Given the description of an element on the screen output the (x, y) to click on. 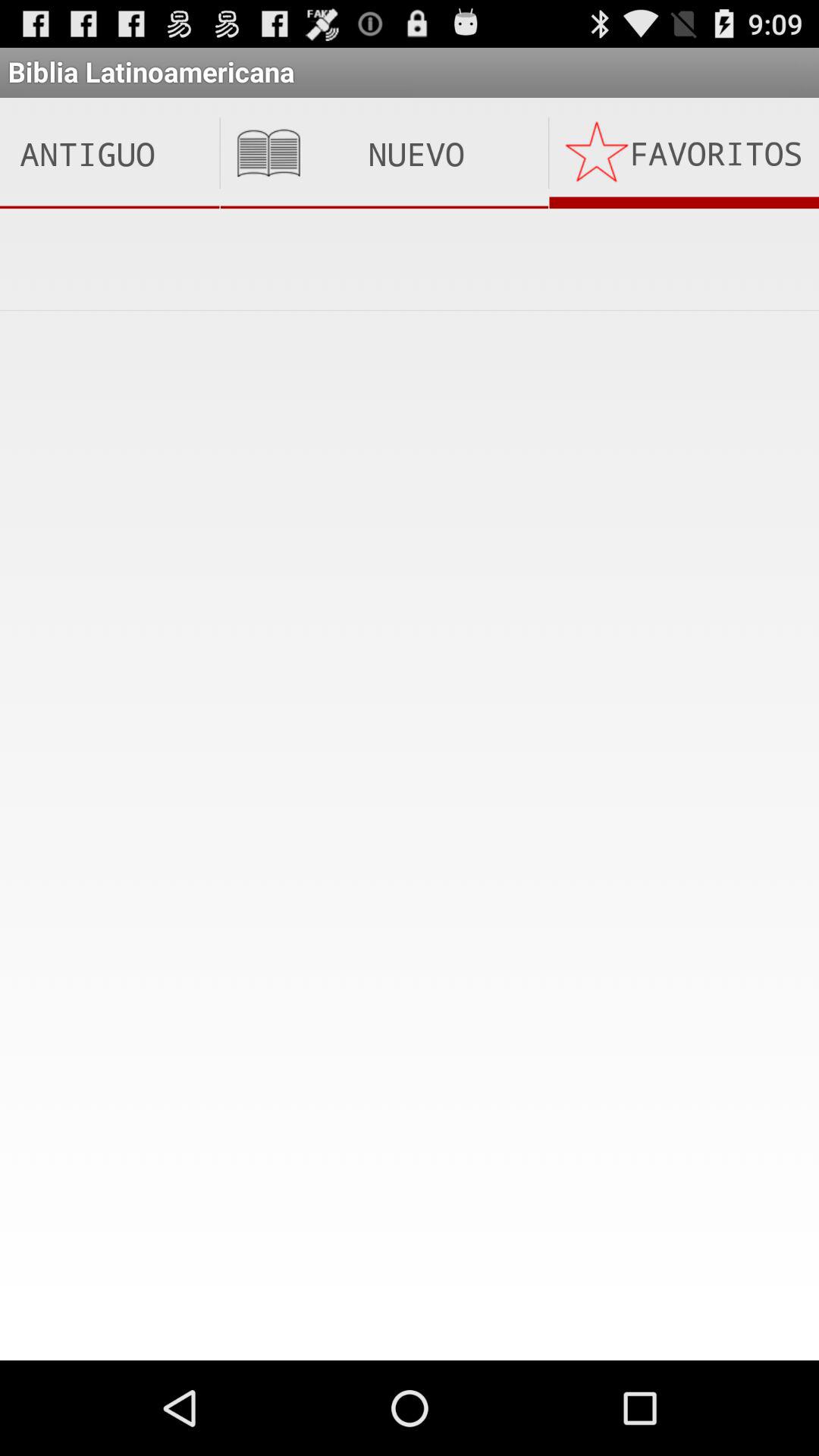
click the app below biblia latinoamericana item (109, 152)
